Given the description of an element on the screen output the (x, y) to click on. 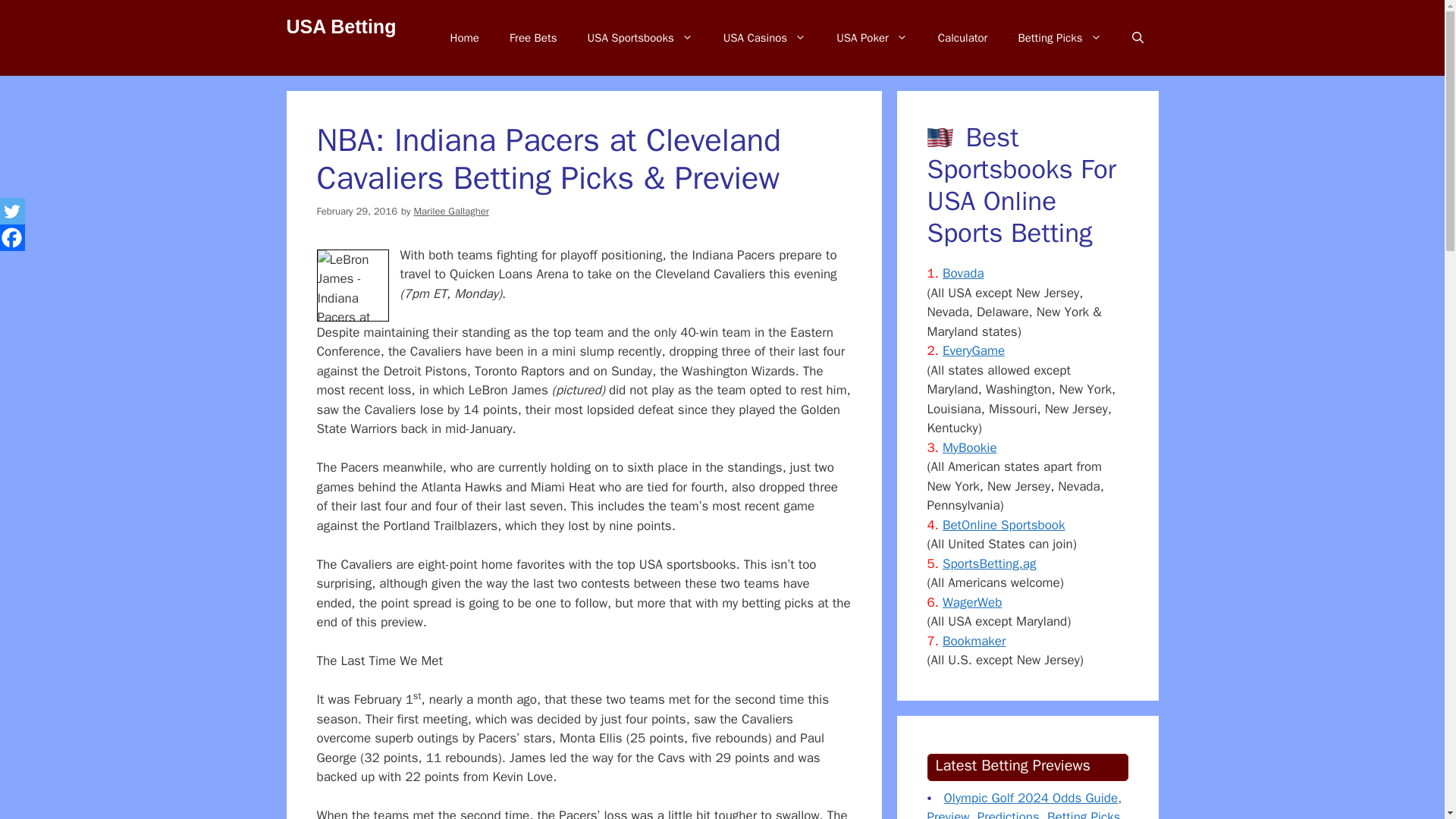
Home (465, 37)
Betting Picks (1059, 37)
Best USA Casinos (764, 37)
USA Poker (872, 37)
USA Casinos (764, 37)
Free Bets (533, 37)
Click for Free Bets (533, 37)
Calculator (963, 37)
USA Sportsbooks (639, 37)
USA Betting Home Page (465, 37)
USA Sportsbook Reviews (639, 37)
USA Betting (341, 25)
